Given the description of an element on the screen output the (x, y) to click on. 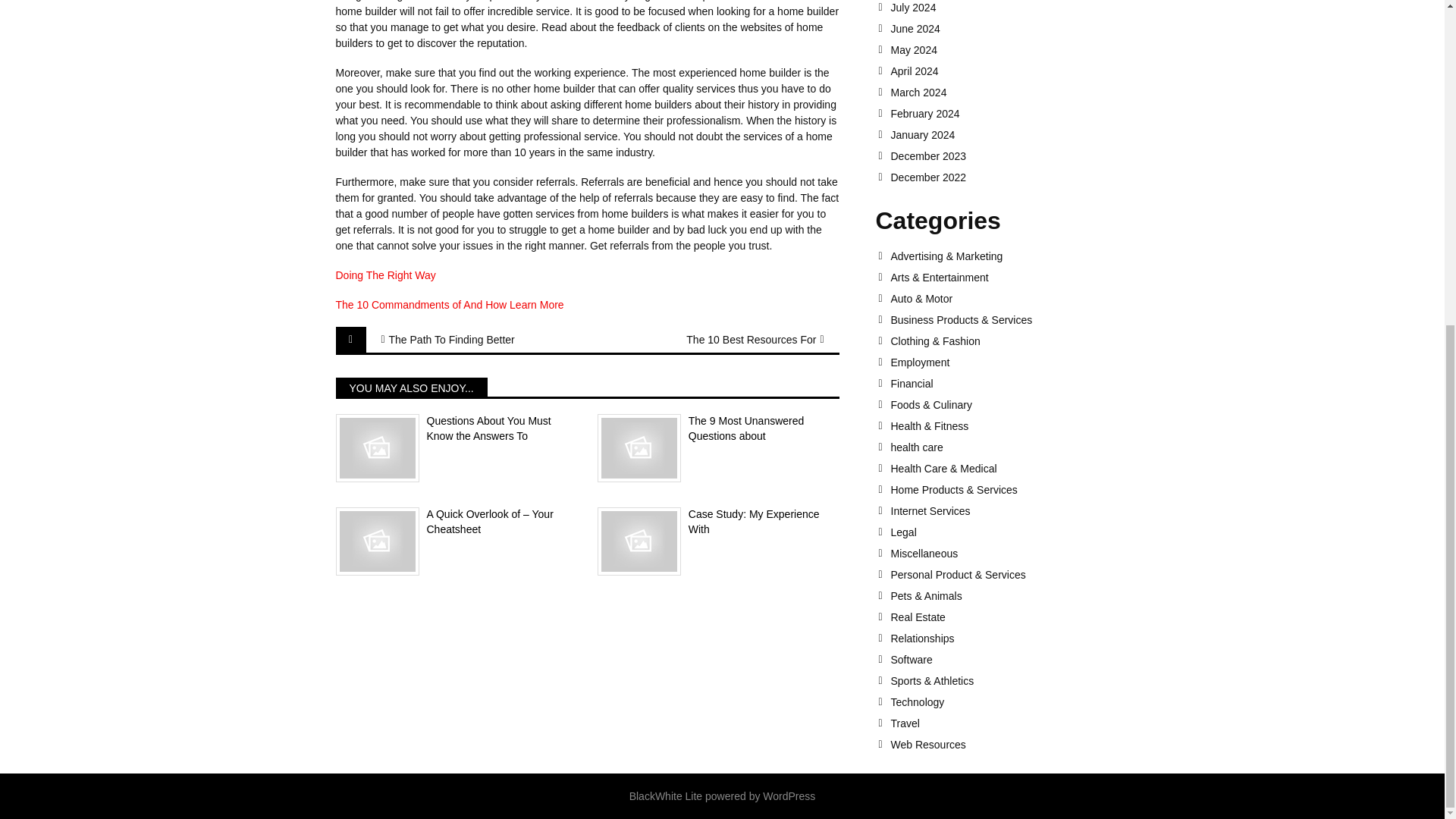
Financial (998, 383)
May 2024 (998, 50)
The 10 Best Resources For (739, 339)
July 2024 (998, 7)
March 2024 (998, 92)
February 2024 (998, 113)
The 9 Most Unanswered Questions about (718, 428)
Questions About You Must Know the Answers To (455, 428)
December 2023 (998, 155)
December 2022 (998, 177)
